Given the description of an element on the screen output the (x, y) to click on. 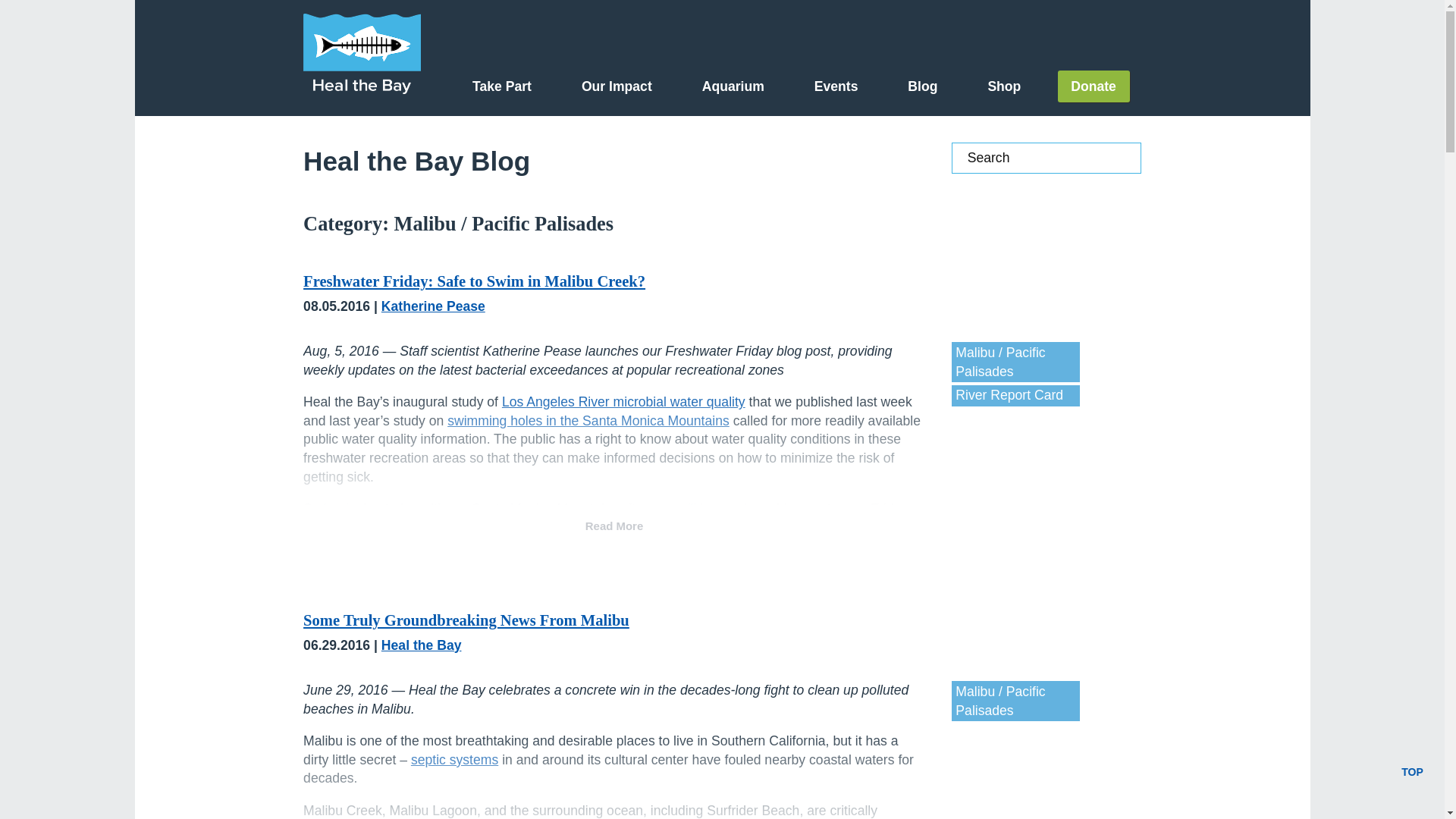
Posts by Katherine Pease (432, 305)
Posts by Heal the Bay (421, 645)
Permalink to Some Truly Groundbreaking News From Malibu (465, 619)
Take Part (501, 86)
